Given the description of an element on the screen output the (x, y) to click on. 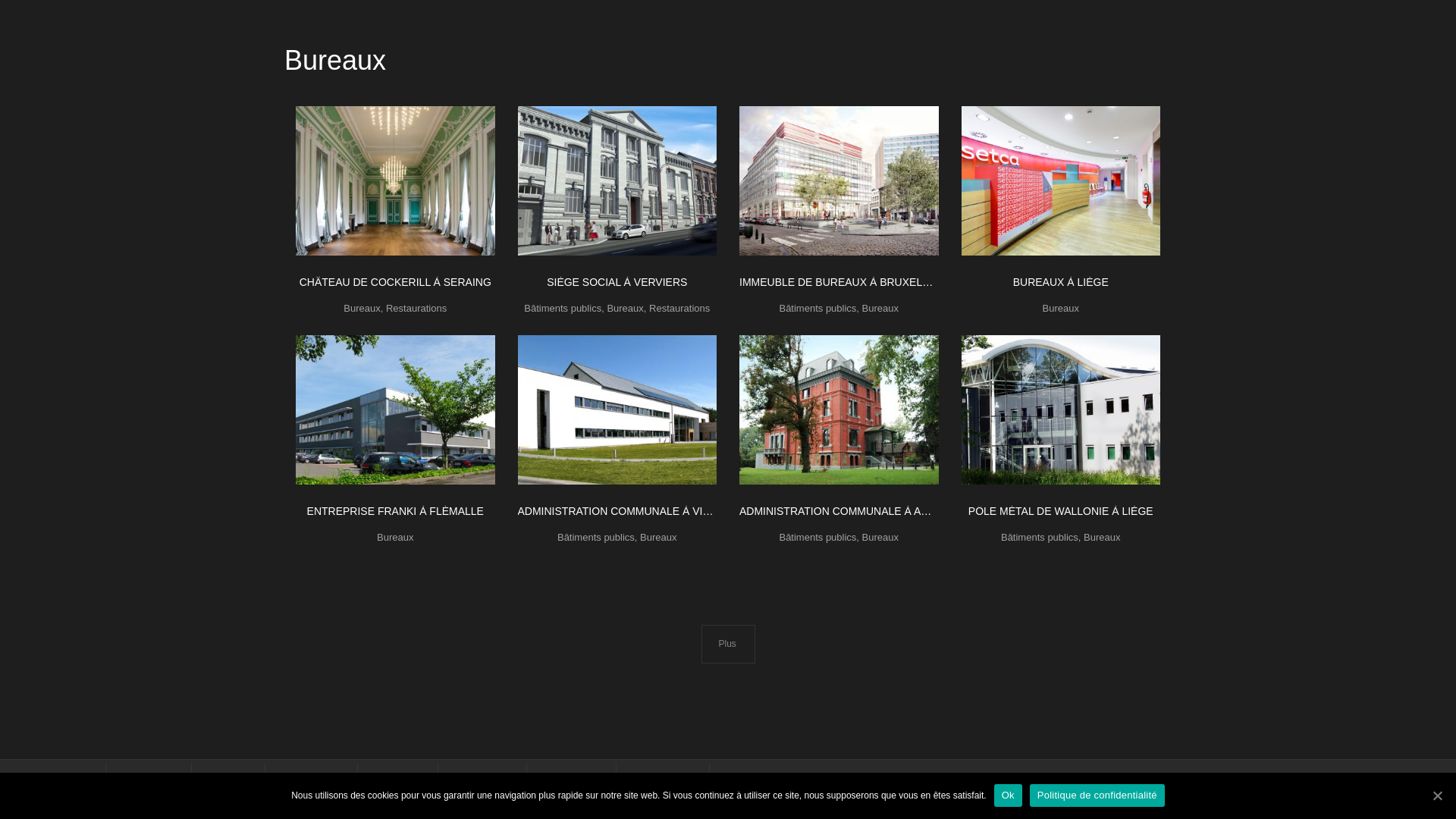
Bureaux Element type: text (1060, 317)
Bureaux Element type: text (1101, 546)
Bureaux Element type: text (361, 317)
Bureaux Element type: text (880, 317)
Ok Element type: text (1008, 795)
Bureaux Element type: text (394, 546)
Bureaux Element type: text (880, 546)
Restaurations Element type: text (415, 317)
Bureaux Element type: text (658, 546)
Plus Element type: text (727, 643)
Restaurations Element type: text (679, 317)
Bureaux Element type: text (624, 317)
